Given the description of an element on the screen output the (x, y) to click on. 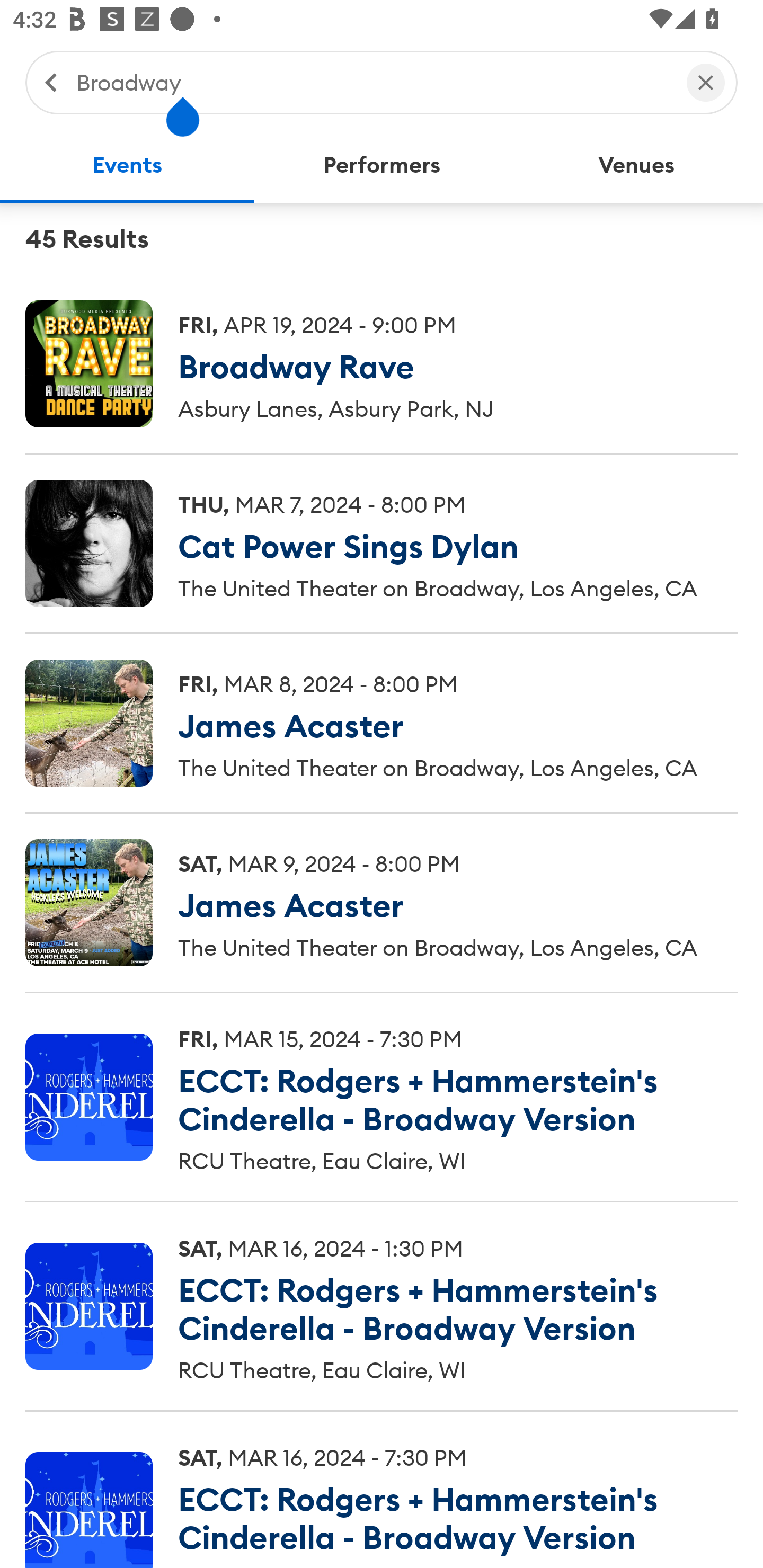
Broadway (371, 81)
Clear Search (705, 81)
Performers (381, 165)
Venues (635, 165)
